Given the description of an element on the screen output the (x, y) to click on. 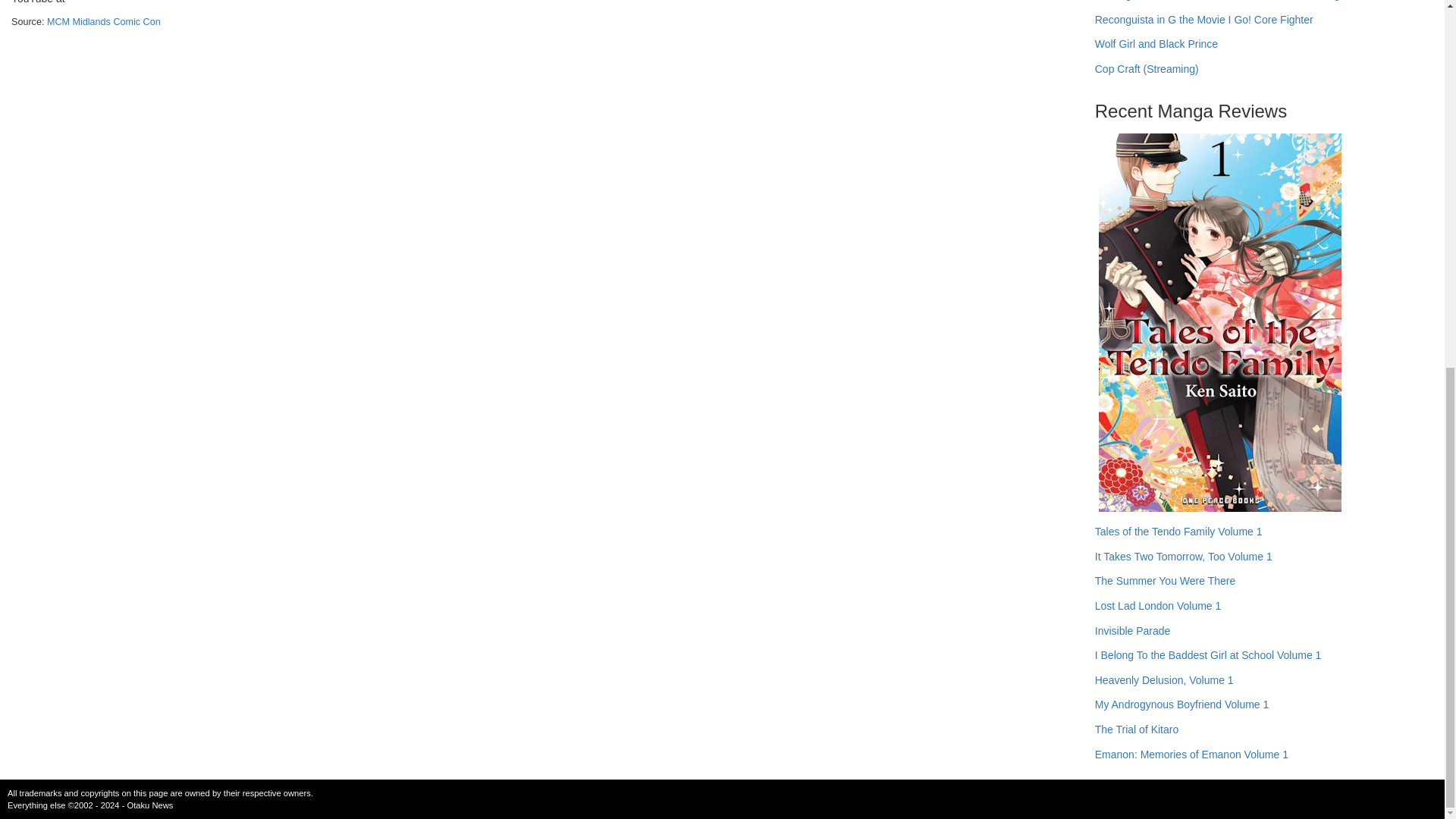
MCM Midlands Comic Con (103, 21)
